Given the description of an element on the screen output the (x, y) to click on. 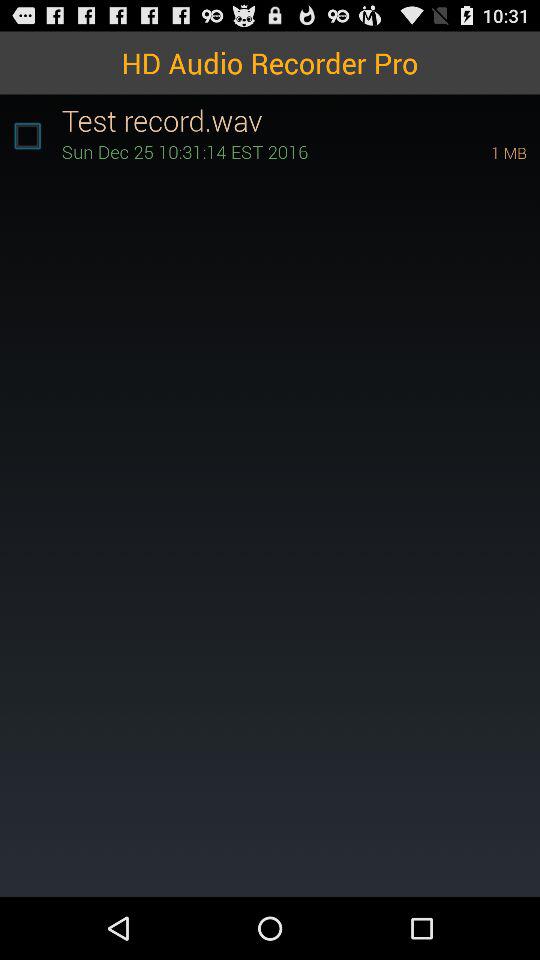
tap icon below hd audio recorder item (300, 120)
